Given the description of an element on the screen output the (x, y) to click on. 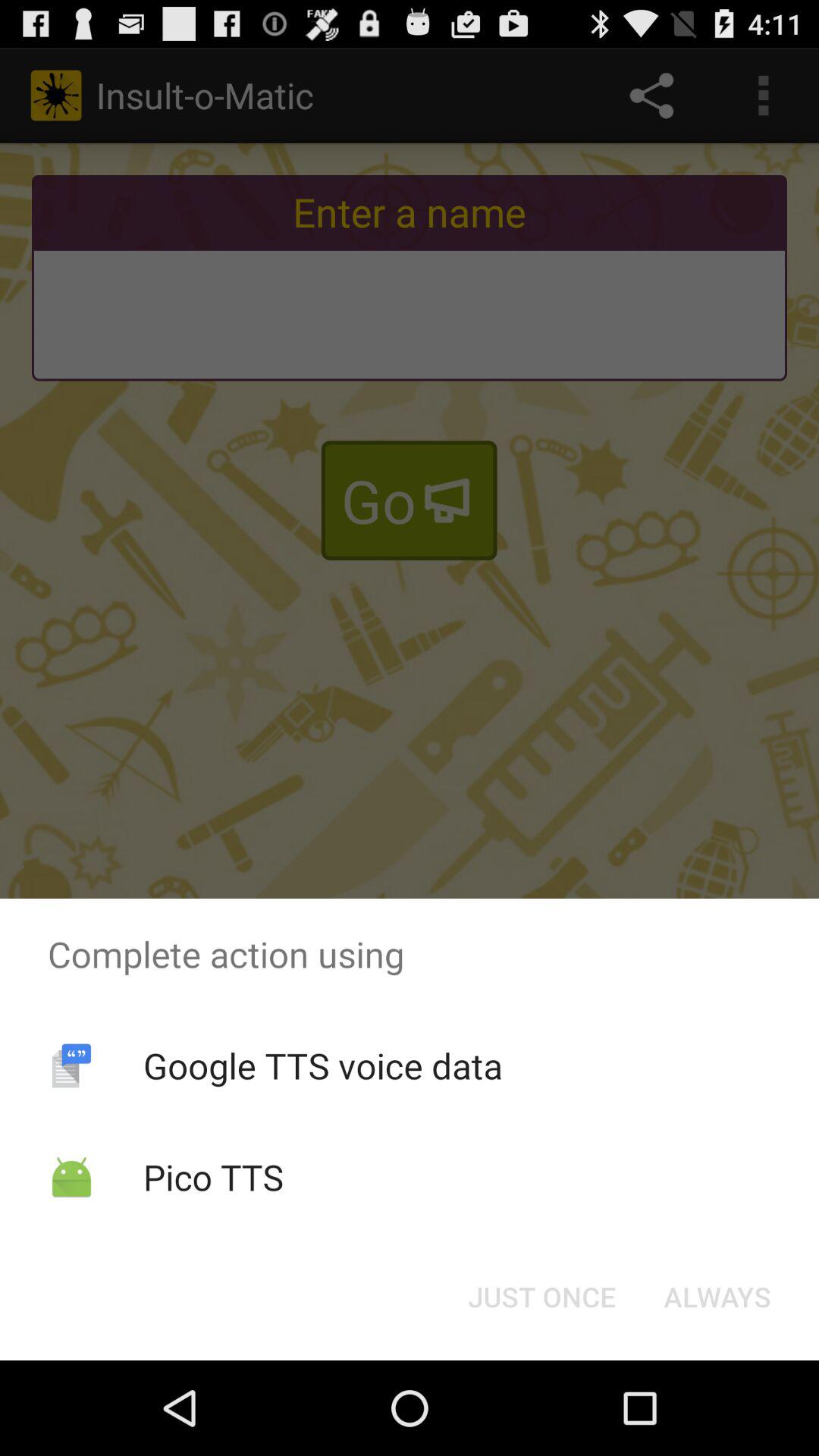
turn off icon to the left of always item (541, 1296)
